Given the description of an element on the screen output the (x, y) to click on. 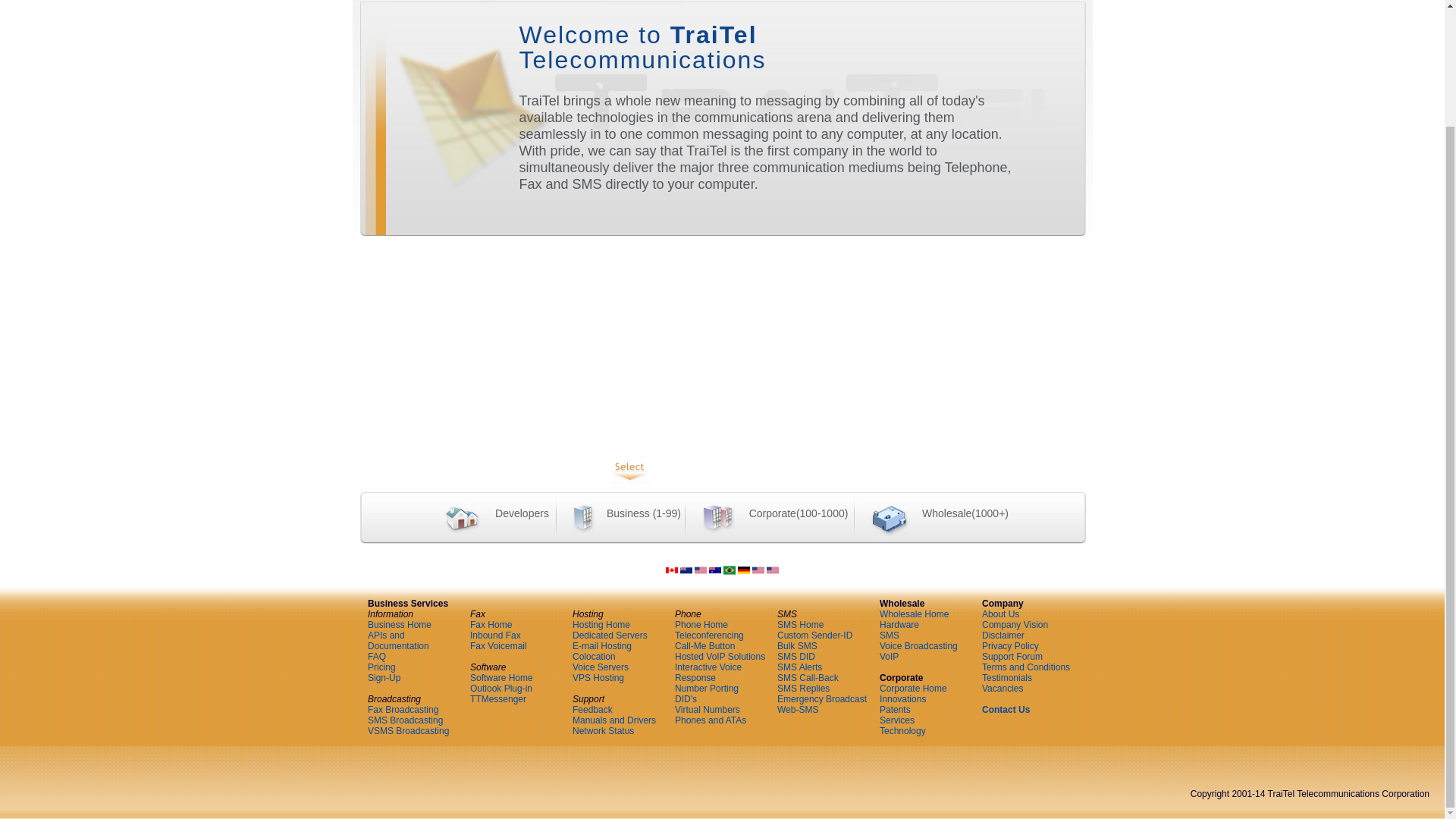
Sign-Up (384, 677)
Outlook Plug-in (501, 688)
 VoIP (759, 1)
Dedicated Servers (609, 634)
traitel.com.au (714, 573)
traitel.de (743, 573)
Developers (492, 514)
 SMS (856, 1)
Business Home (399, 624)
traitel.ca (671, 573)
traitel.net (758, 573)
traitel.com.br (729, 573)
VSMS Broadcasting (408, 730)
traitel.com (700, 573)
TTMessenger (497, 698)
